Given the description of an element on the screen output the (x, y) to click on. 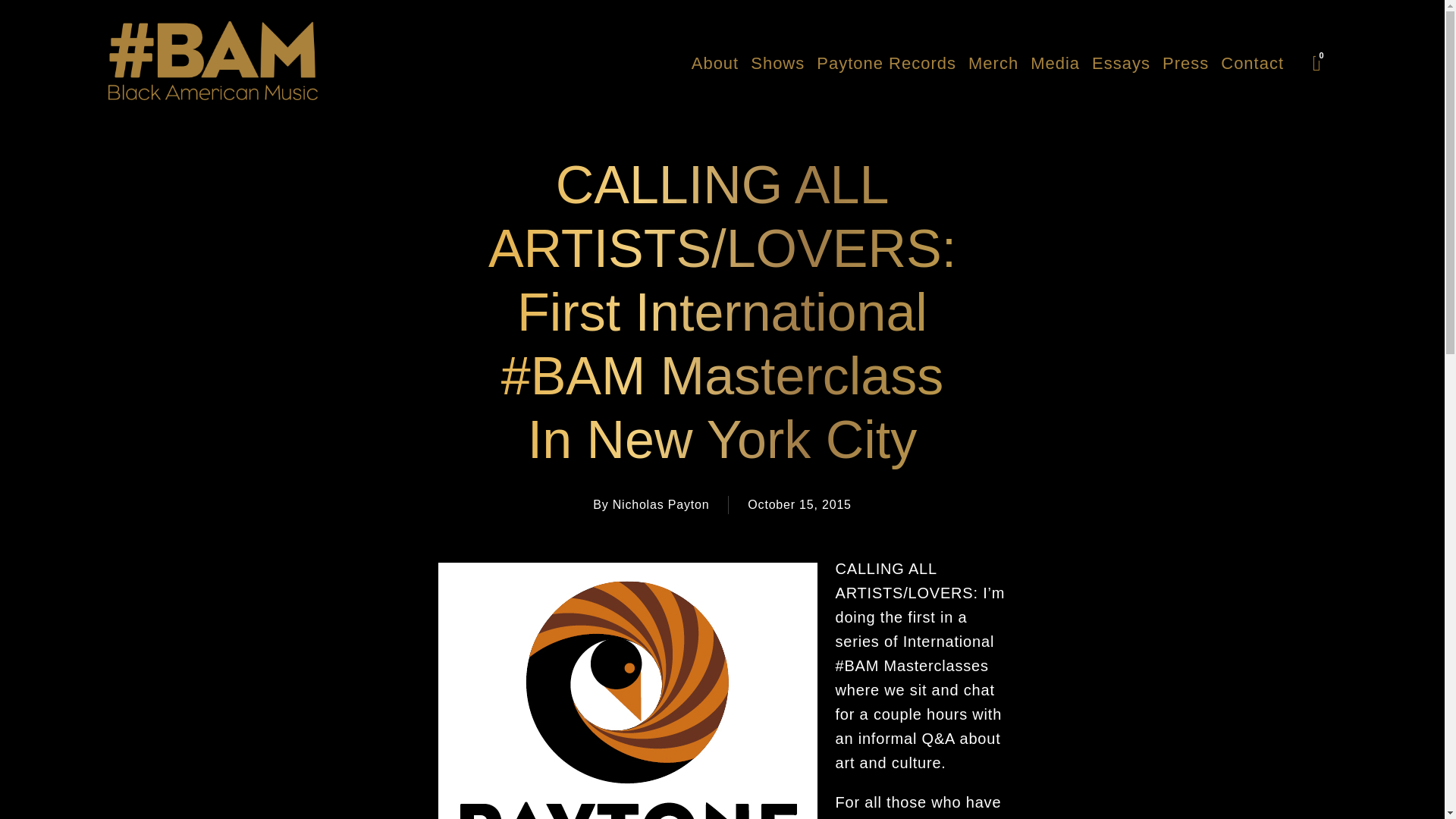
Nicholas Payton (212, 60)
October 15, 2015 (799, 505)
By Nicholas Payton (650, 505)
NICHOLAS PAYTON (213, 111)
Paytone Records (886, 63)
Nicholas Payton (213, 111)
